Given the description of an element on the screen output the (x, y) to click on. 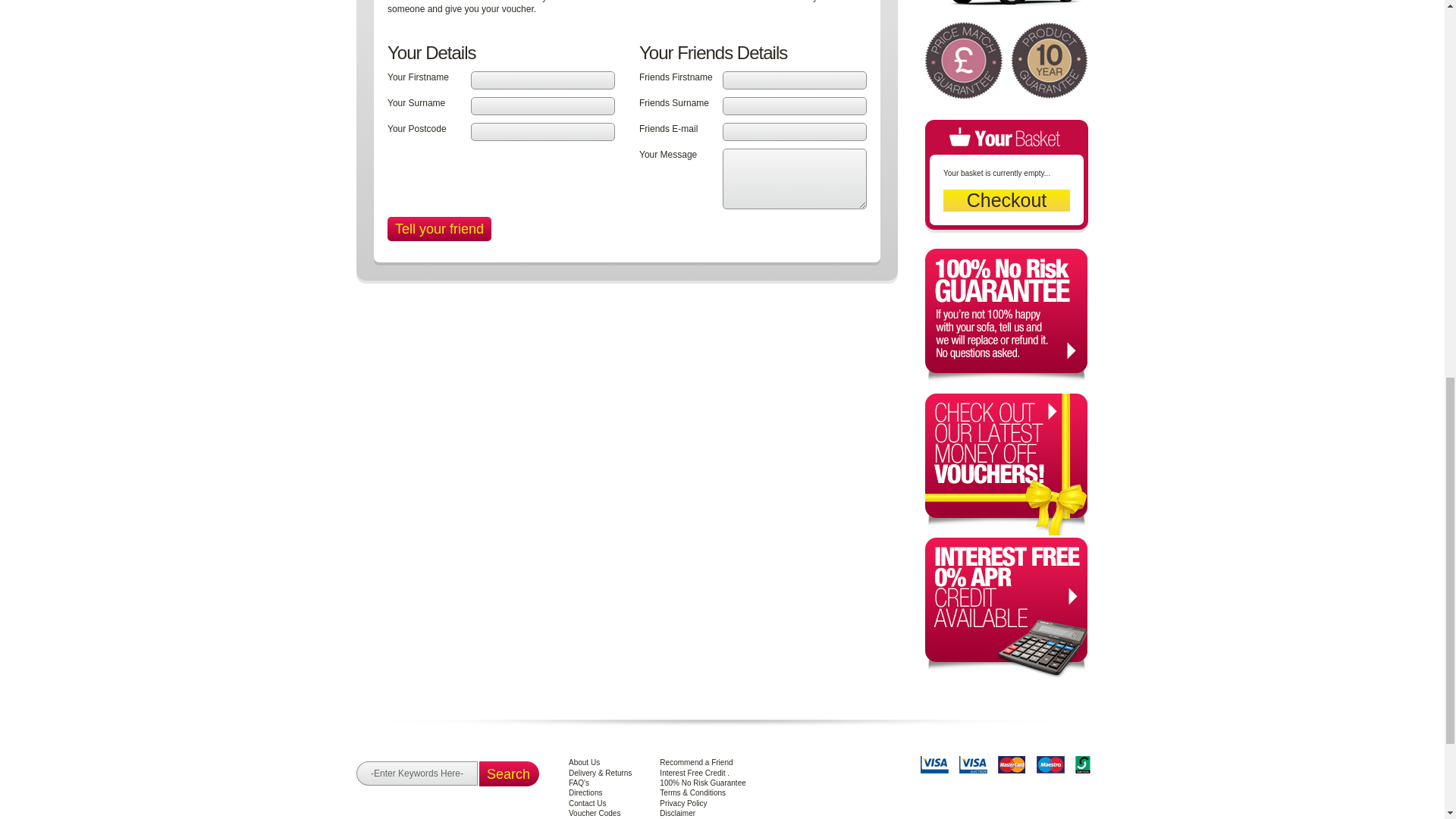
-Enter Keywords Here- (416, 773)
